Given the description of an element on the screen output the (x, y) to click on. 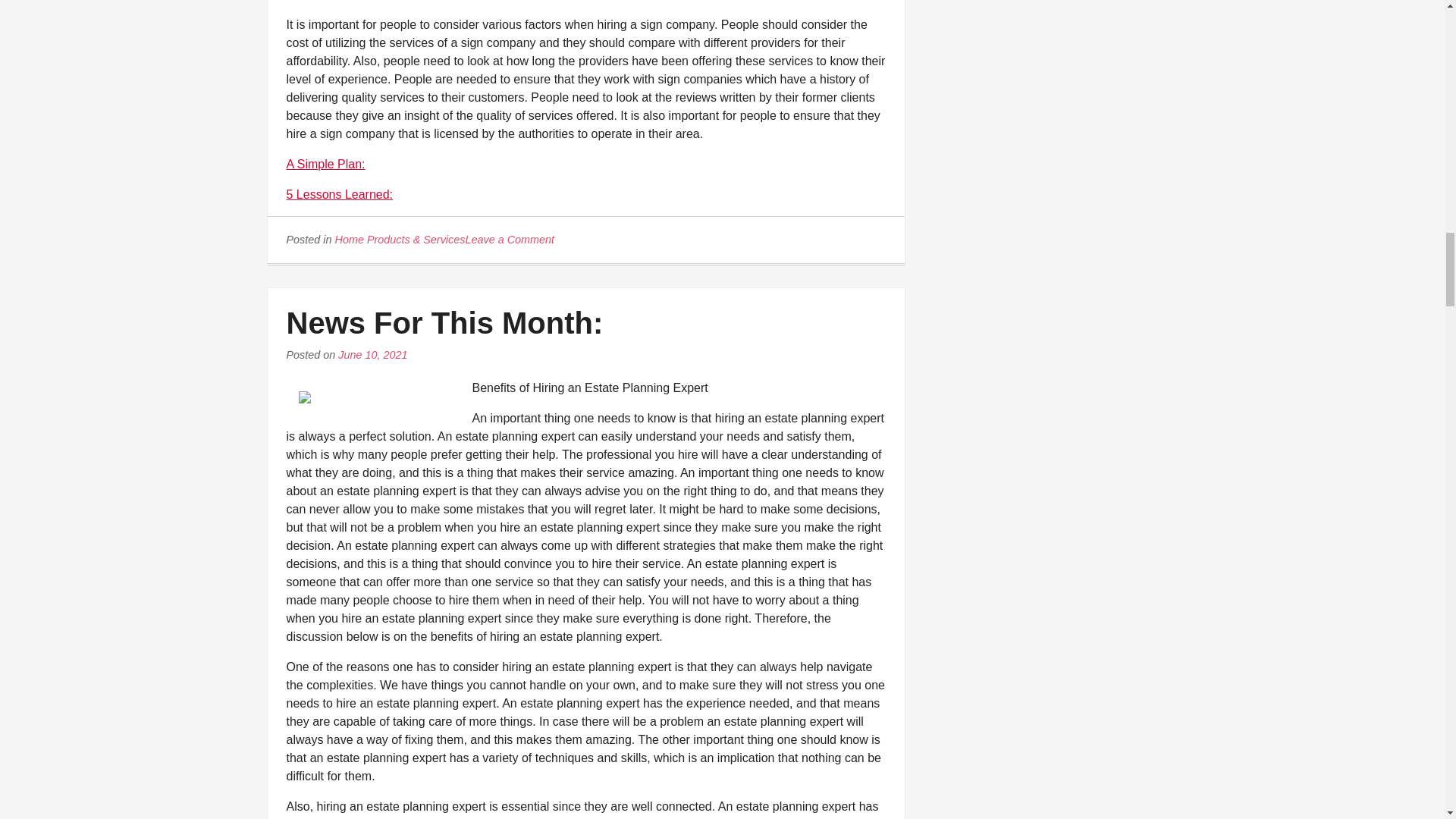
June 10, 2021 (372, 354)
A Simple Plan: (325, 164)
News For This Month: (509, 239)
5 Lessons Learned: (445, 322)
